Given the description of an element on the screen output the (x, y) to click on. 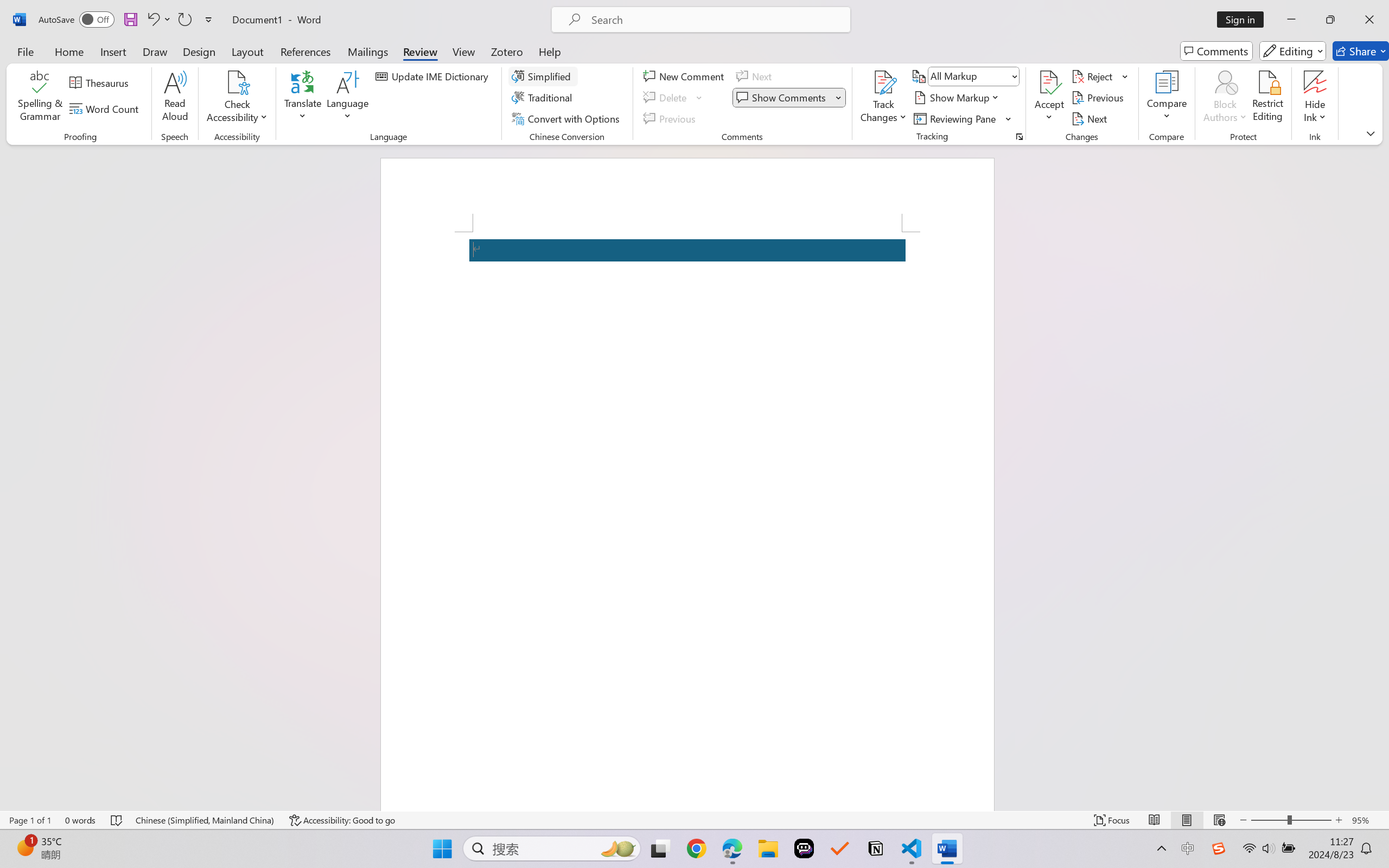
Undo Apply Quick Style Set (152, 19)
Reviewing Pane (962, 118)
Track Changes (883, 81)
Check Accessibility (237, 81)
Track Changes (883, 97)
Language Chinese (Simplified, Mainland China) (205, 819)
